Given the description of an element on the screen output the (x, y) to click on. 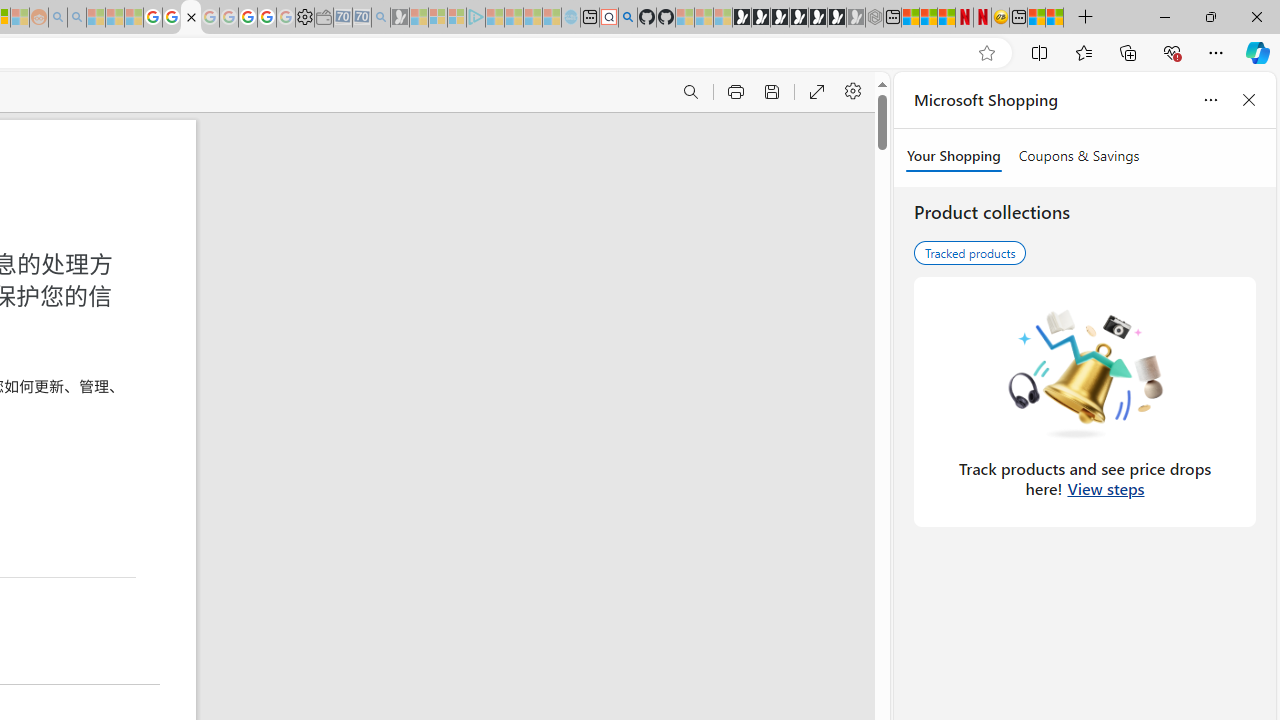
Microsoft Start Gaming - Sleeping (399, 17)
Play Free Online Games | Games from Microsoft Start (742, 17)
Find (Ctrl + F) (690, 92)
Enter PDF full screen (815, 92)
